Given the description of an element on the screen output the (x, y) to click on. 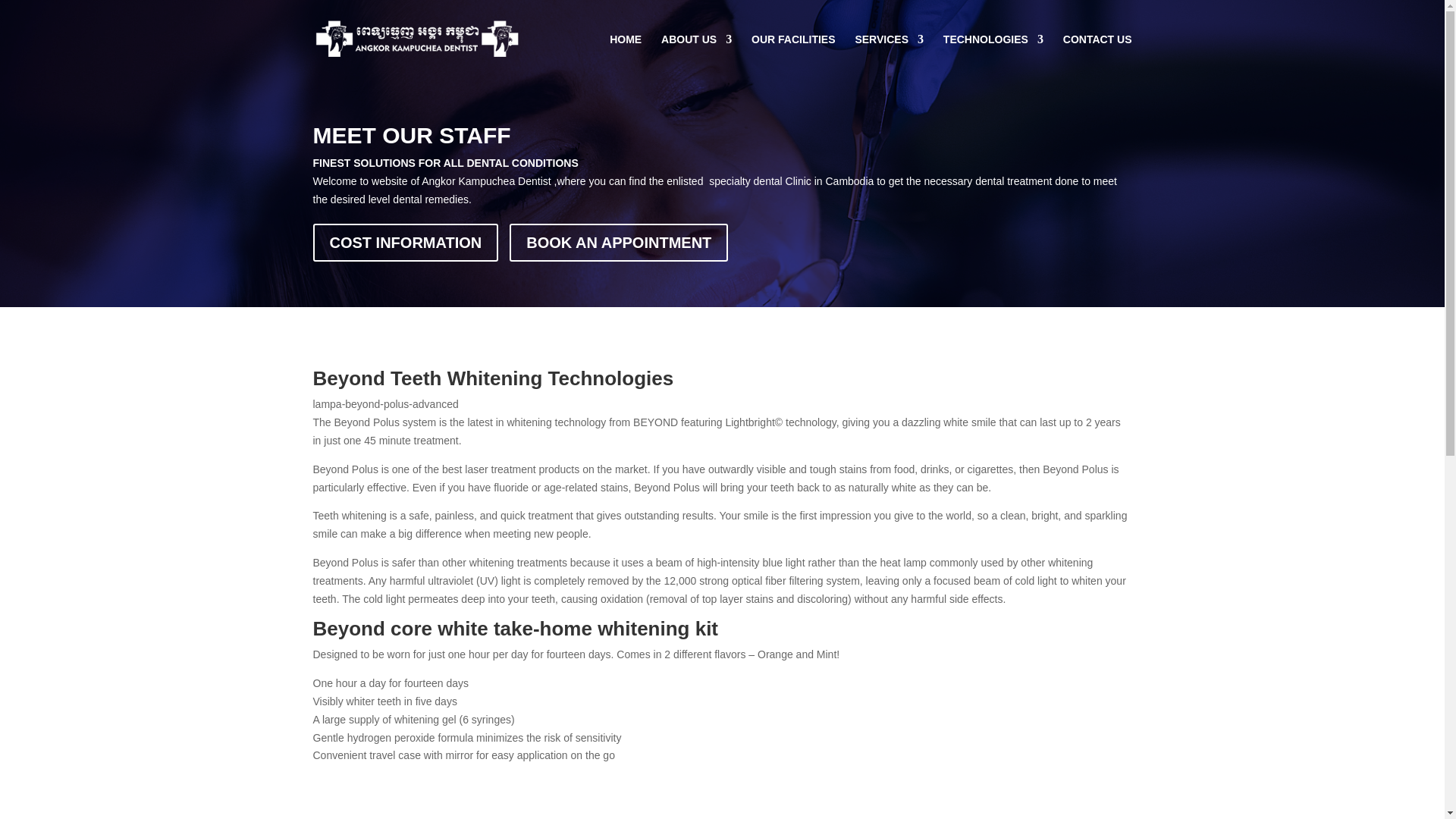
SERVICES (888, 56)
TECHNOLOGIES (993, 56)
CONTACT US (1097, 56)
OUR FACILITIES (792, 56)
ABOUT US (696, 56)
